Given the description of an element on the screen output the (x, y) to click on. 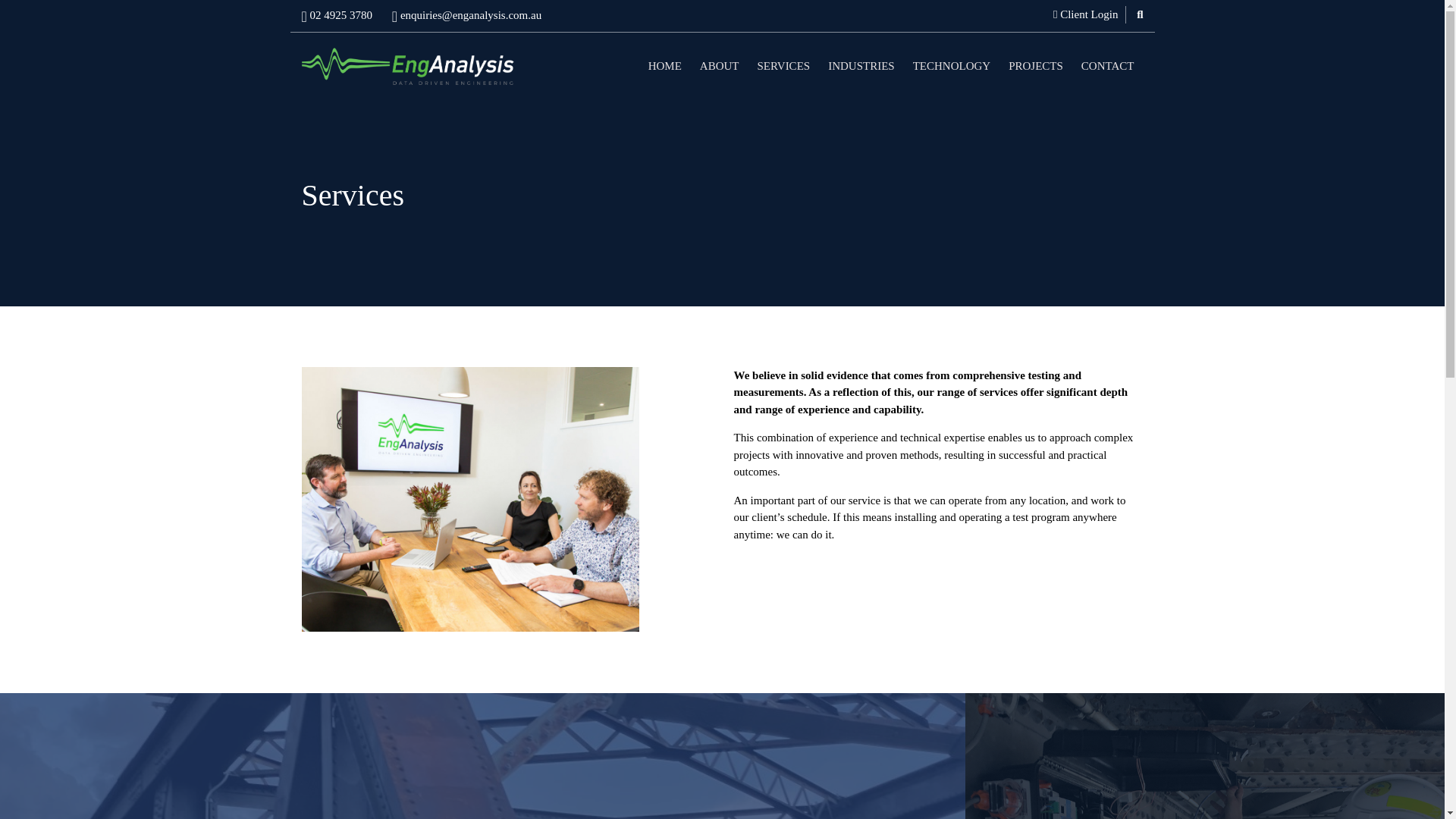
Client Login (1088, 14)
02 4925 3780 (336, 15)
